Given the description of an element on the screen output the (x, y) to click on. 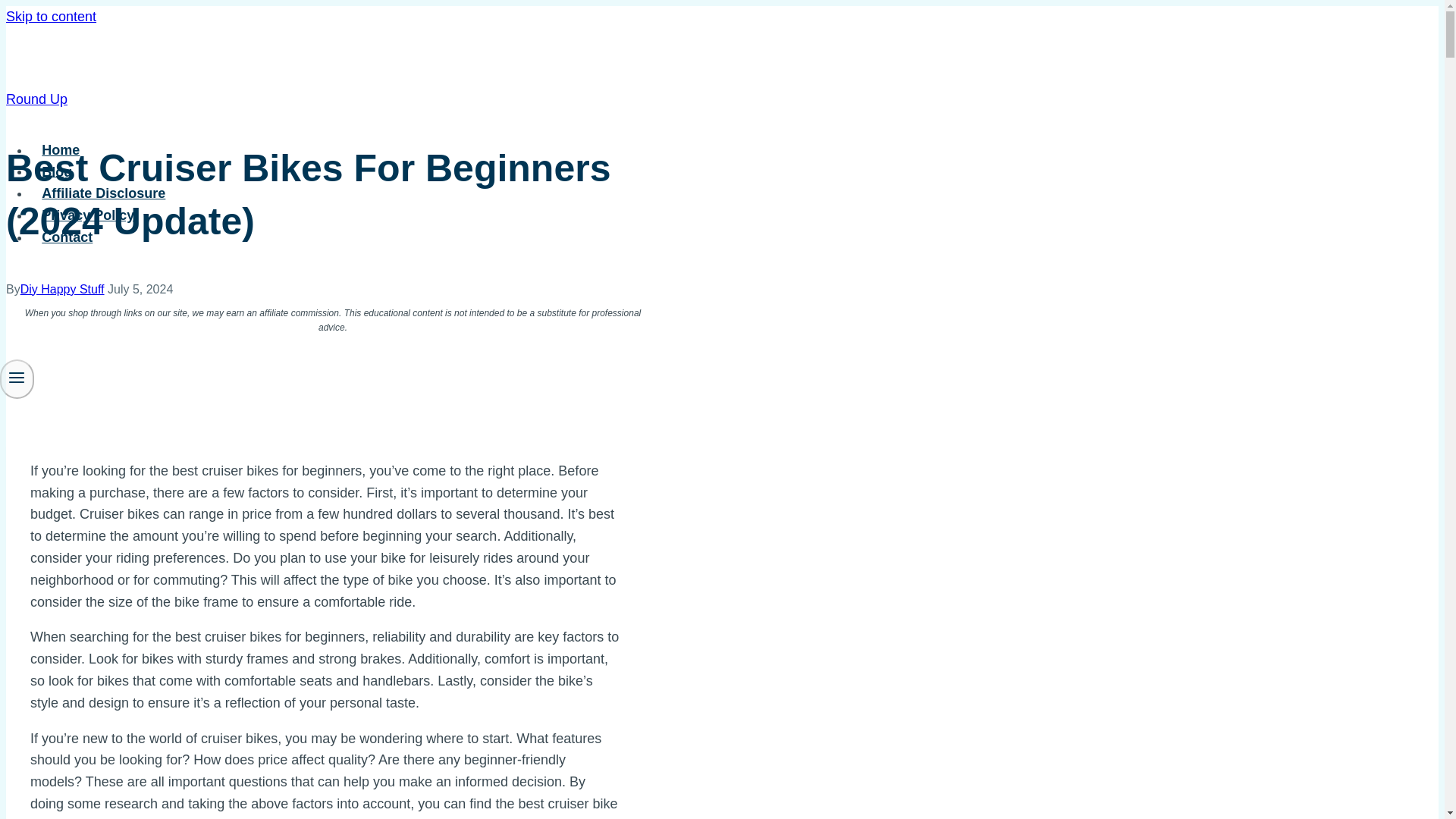
Diy Happy Stuff (62, 288)
Privacy Policy (88, 214)
Blog (57, 172)
Home (60, 150)
Skip to content (50, 16)
Contact (67, 237)
Toggle Menu (16, 377)
Affiliate Disclosure (103, 193)
Skip to content (50, 16)
Round Up (35, 99)
